Given the description of an element on the screen output the (x, y) to click on. 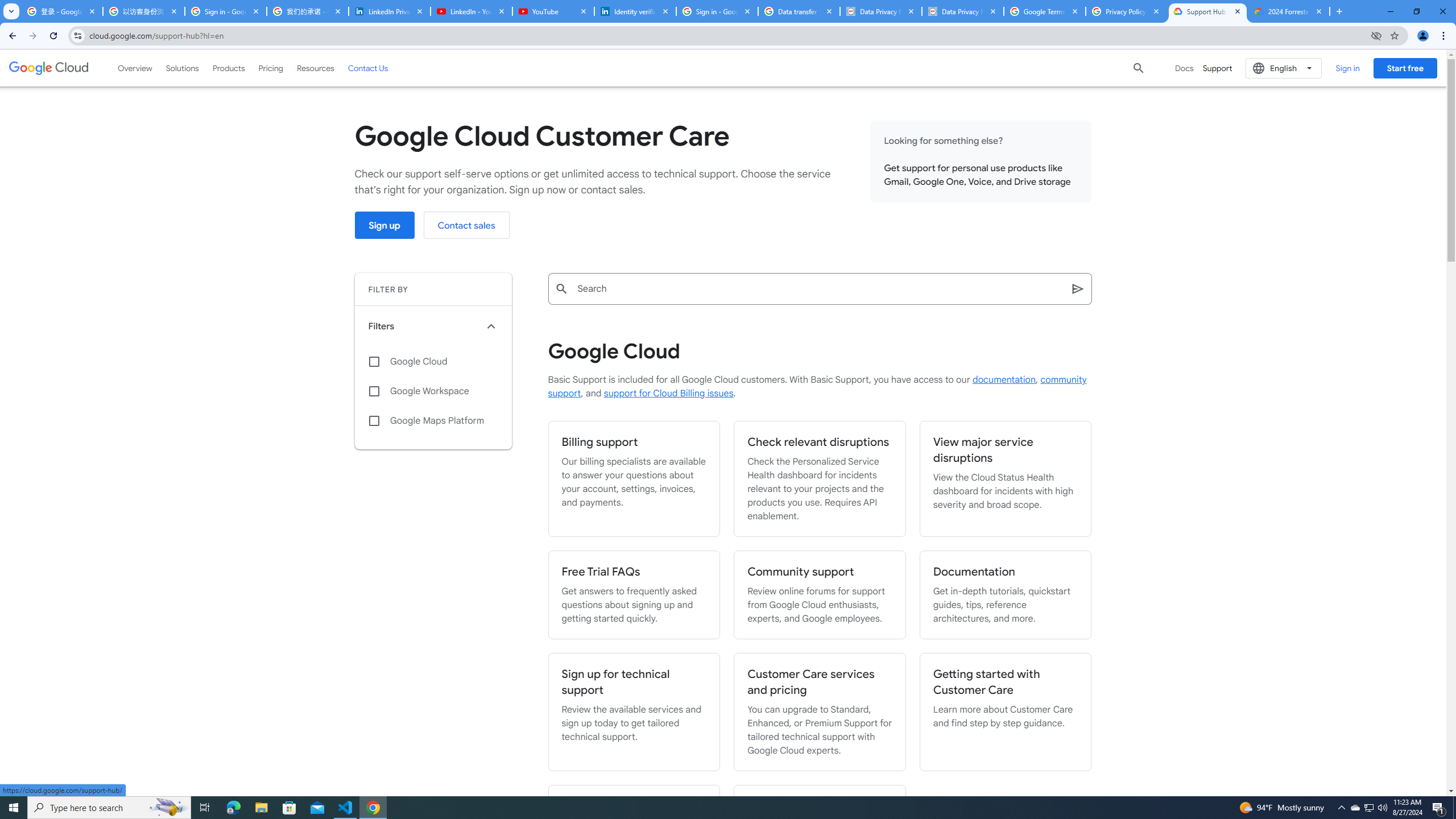
Chrome (1445, 35)
Support (1216, 67)
Pricing (270, 67)
Search (819, 288)
Bookmark this tab (1393, 35)
Sign in - Google Accounts (225, 11)
